Given the description of an element on the screen output the (x, y) to click on. 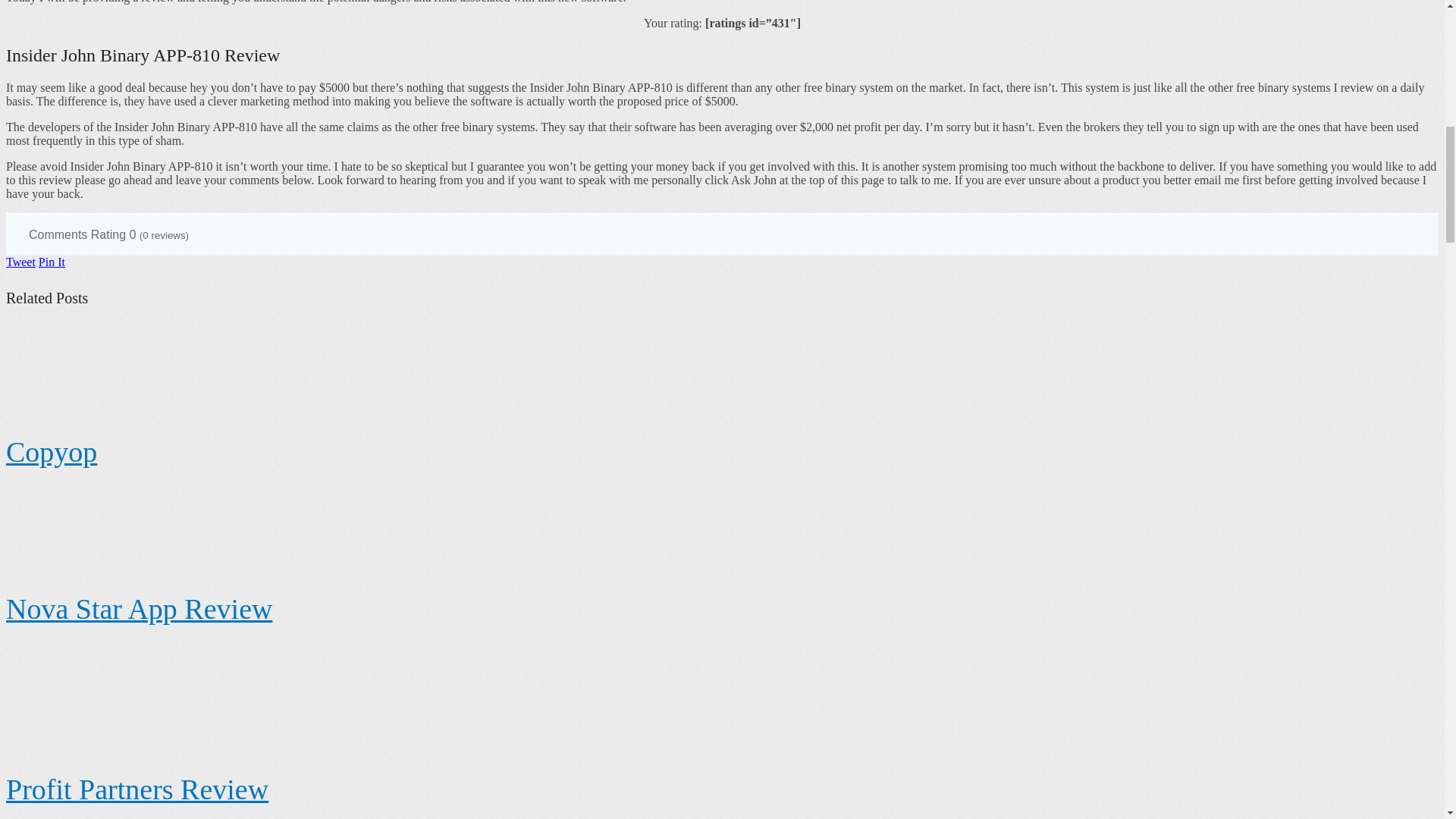
Copyop (51, 451)
Copyop (51, 451)
Nova Star App Review (138, 608)
Profit Partners Review (136, 789)
Nova Star App Review (138, 608)
Tweet (19, 261)
Pin It (52, 261)
Profit Partners Review (136, 789)
